Given the description of an element on the screen output the (x, y) to click on. 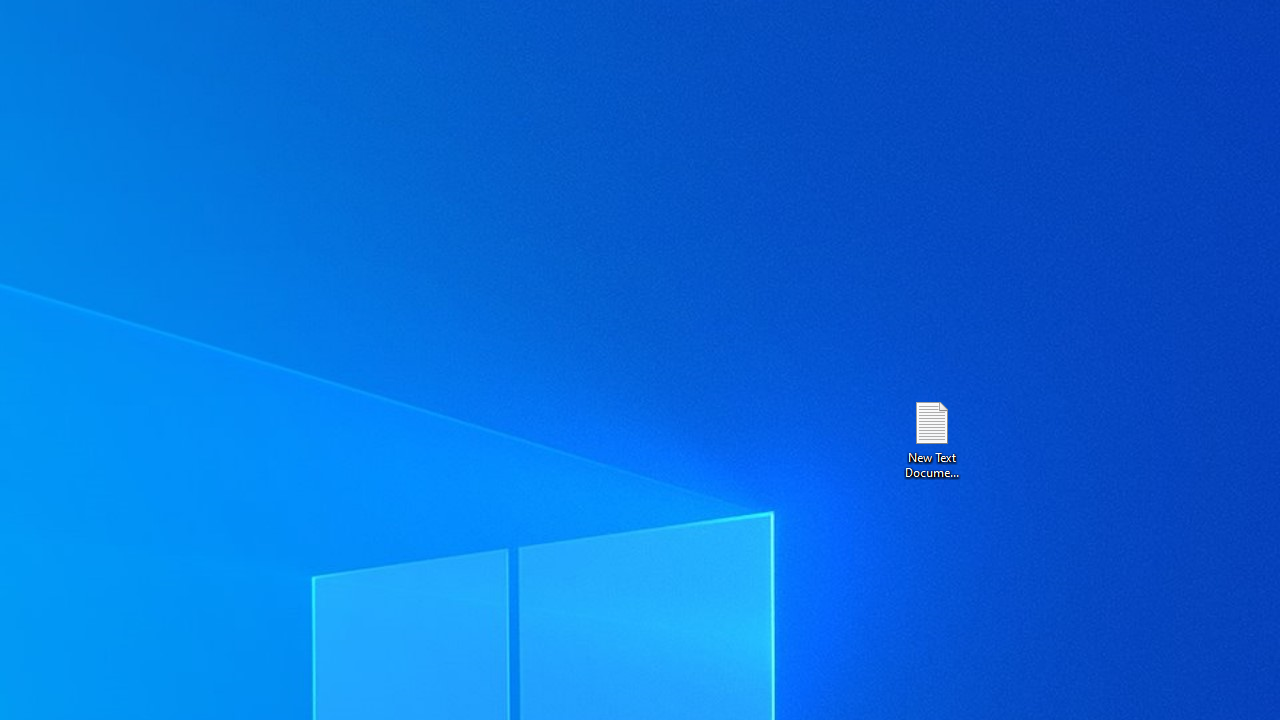
New Text Document (2) (931, 438)
